Given the description of an element on the screen output the (x, y) to click on. 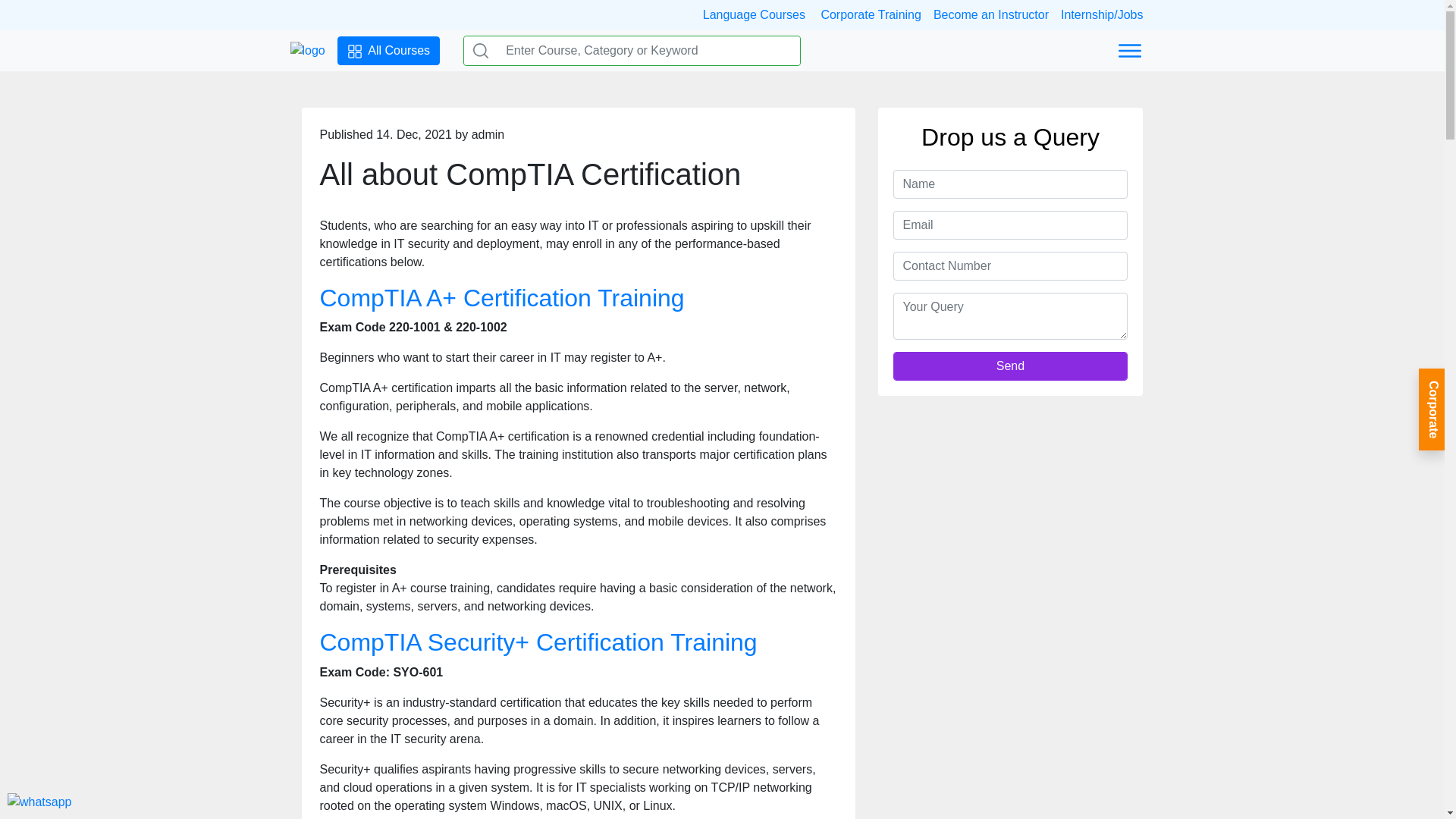
Become an Instructor (990, 14)
Send (1010, 366)
All Courses All Courses (388, 50)
Corporate Training (870, 14)
Language Courses (759, 14)
Please Enter Course, Category or Keyword (647, 50)
All Courses (354, 51)
Menu (1129, 51)
Menu (1128, 50)
